Given the description of an element on the screen output the (x, y) to click on. 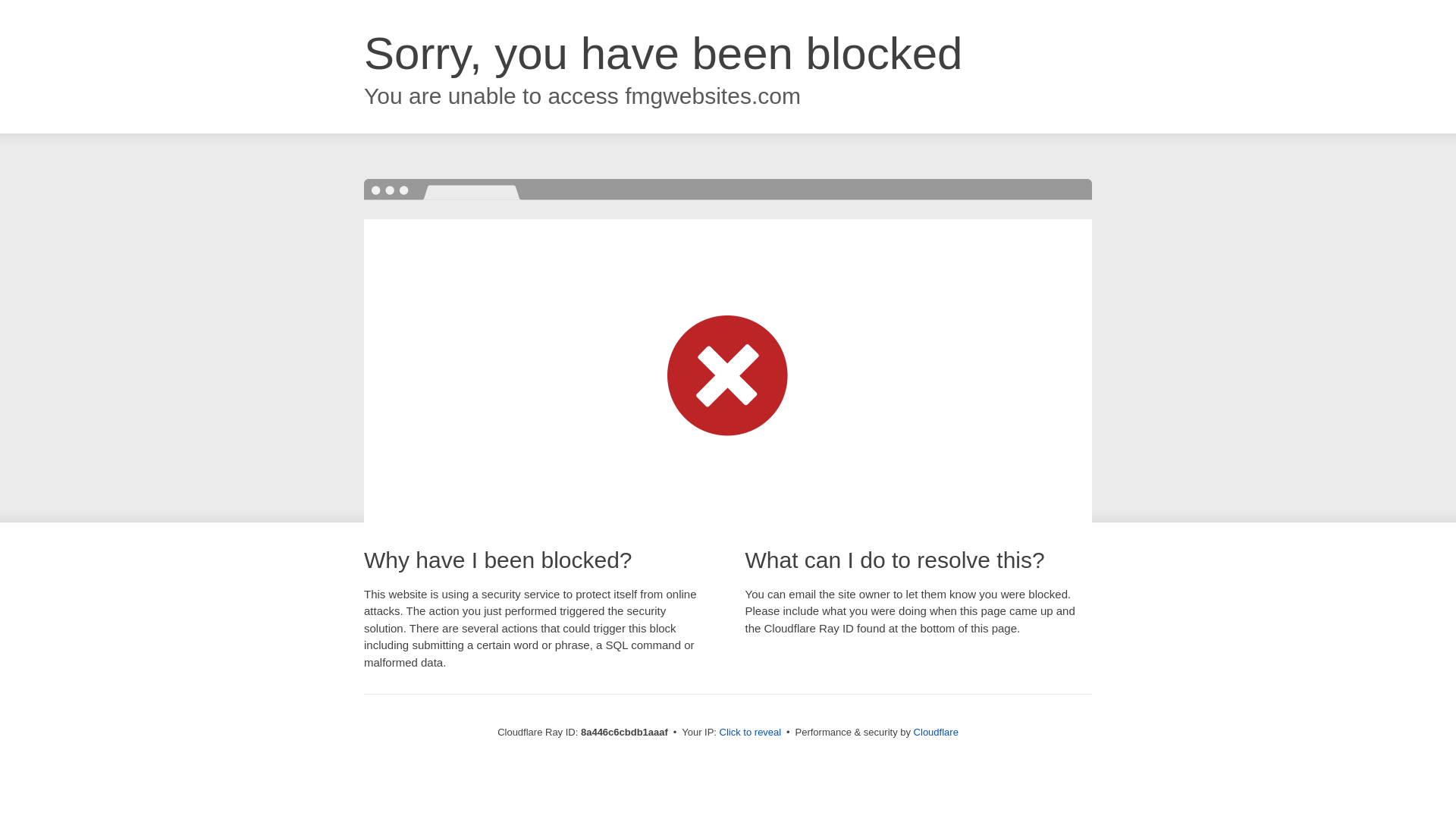
Cloudflare (936, 731)
Click to reveal (750, 732)
